Given the description of an element on the screen output the (x, y) to click on. 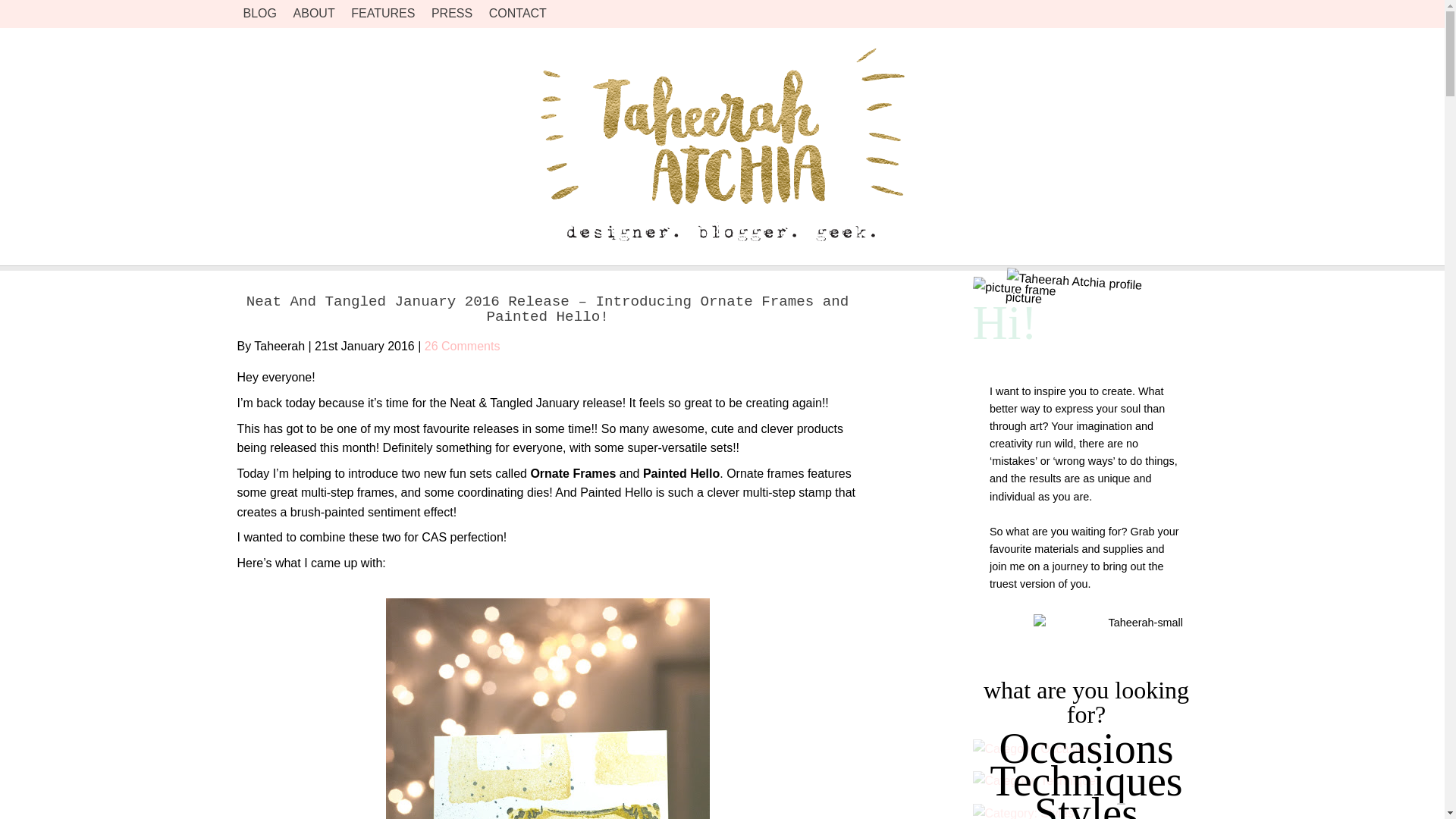
CONTACT (518, 12)
26 Comments (462, 345)
PRESS (450, 12)
BLOG (259, 12)
FEATURES (382, 12)
ABOUT (314, 12)
